Given the description of an element on the screen output the (x, y) to click on. 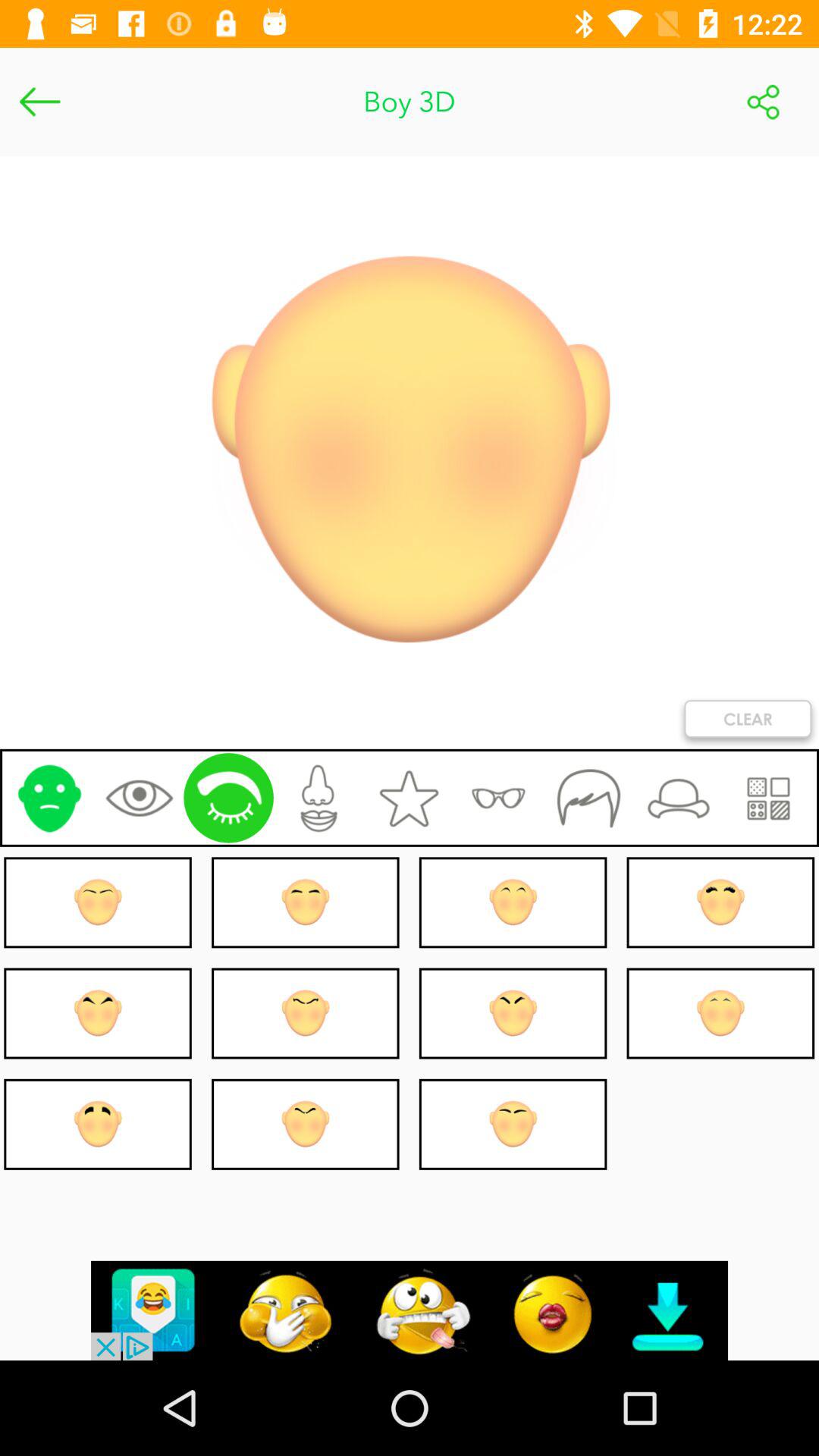
advertisements to watch (409, 1310)
